Given the description of an element on the screen output the (x, y) to click on. 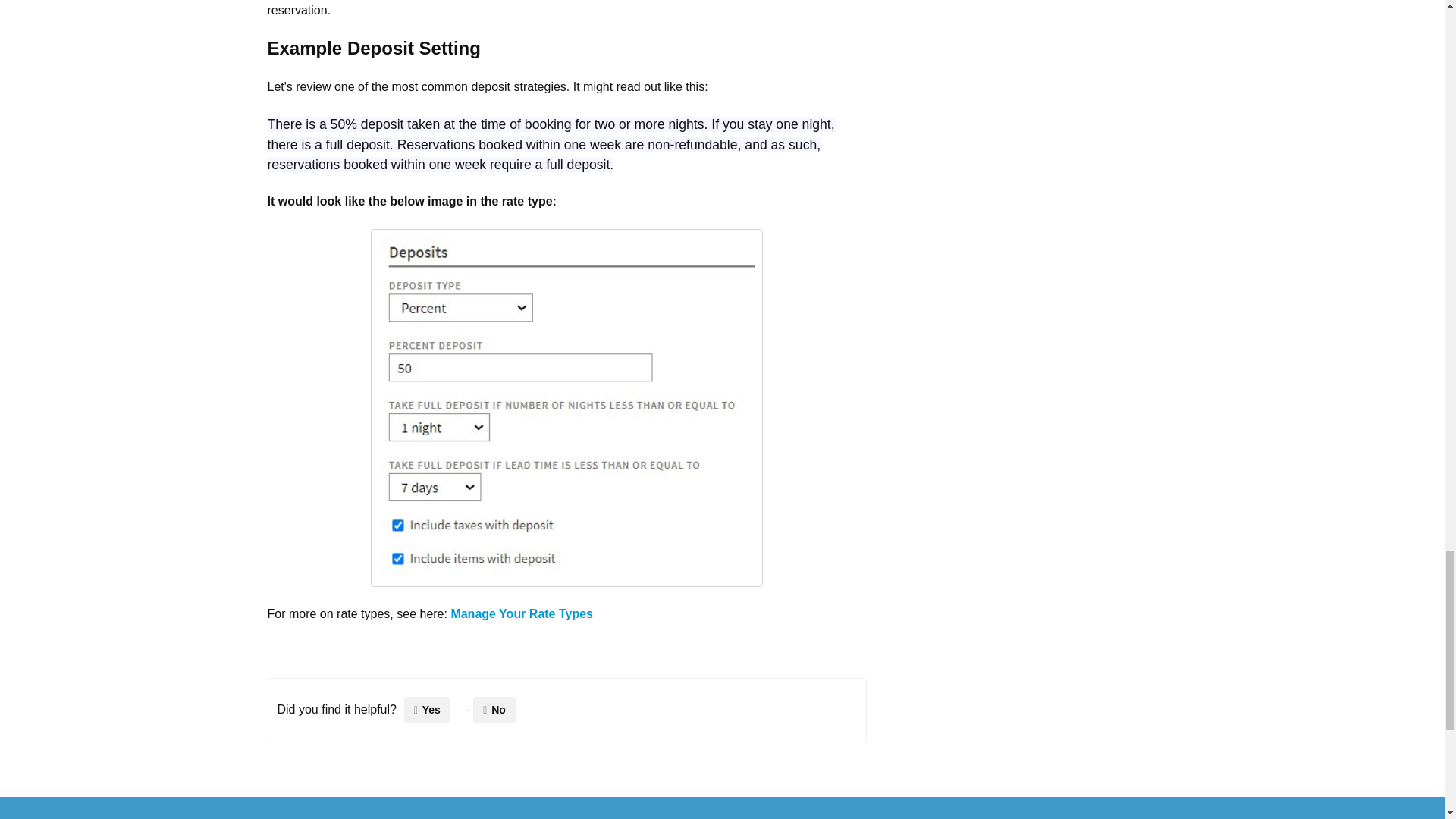
Manage Your Rate Types (520, 613)
